Given the description of an element on the screen output the (x, y) to click on. 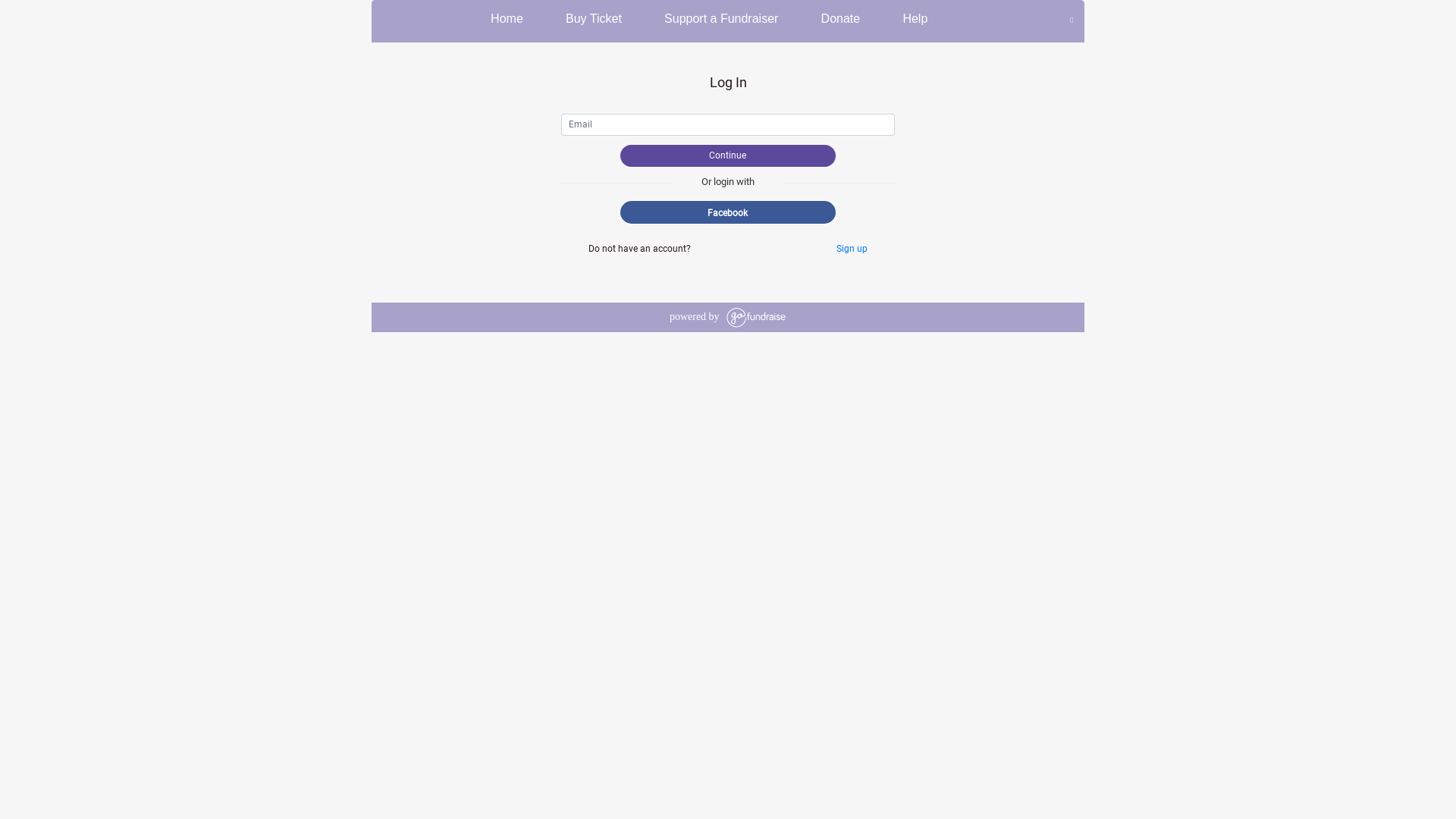
Sign up Element type: text (851, 248)
Donate Element type: text (838, 19)
Home Element type: text (504, 19)
Facebook Element type: text (727, 211)
Buy Ticket Element type: text (591, 19)
Continue Element type: text (727, 155)
Help Element type: text (913, 19)
Support a Fundraiser Element type: text (719, 19)
